Given the description of an element on the screen output the (x, y) to click on. 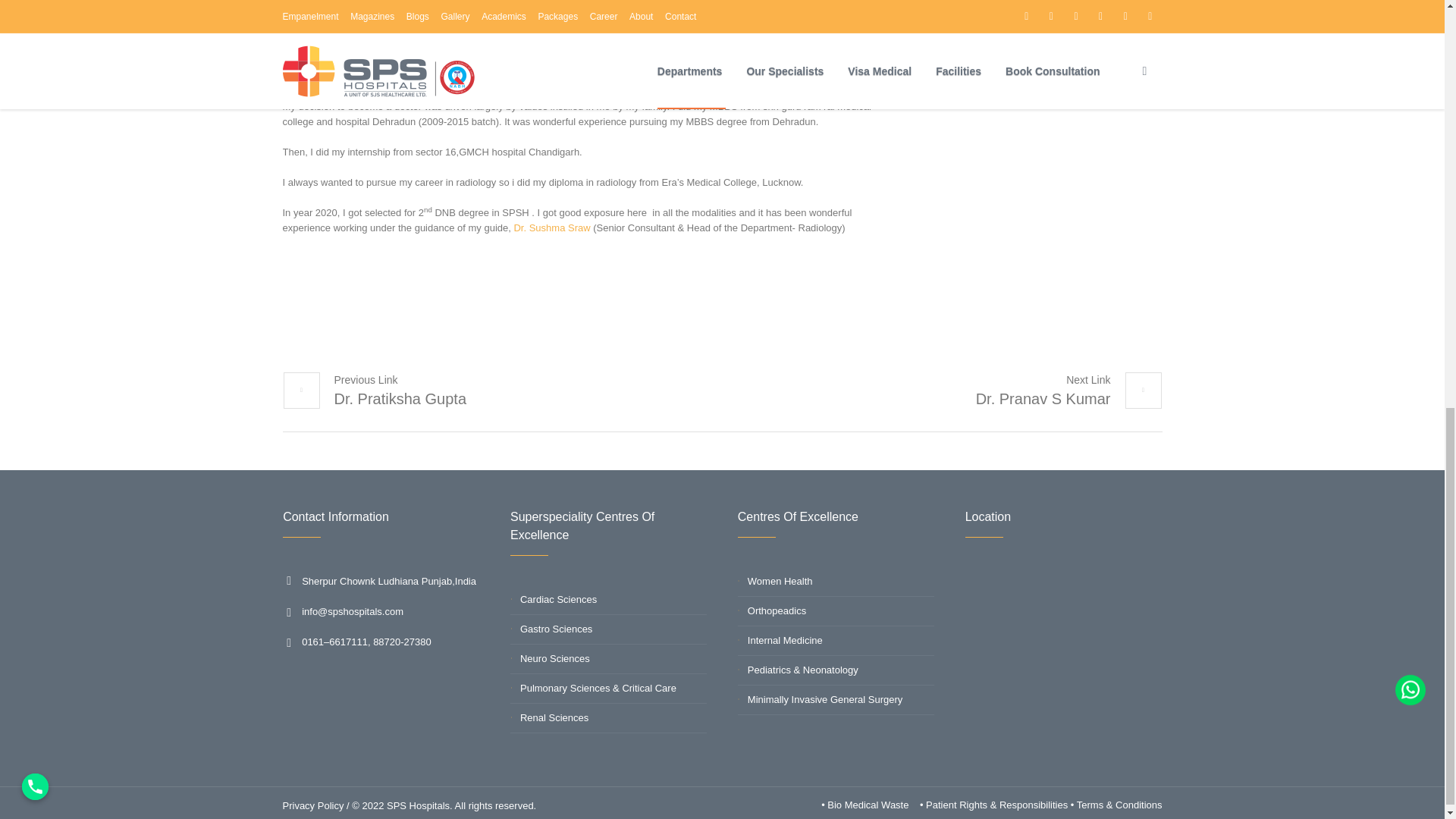
Dr. Sushma Sraw (551, 227)
Dr. Pratiksha Gupta (373, 390)
Cardiac Sciences (557, 599)
Neuro Sciences (554, 658)
Dr. Pranav S Kumar (1068, 390)
Gastro Sciences (555, 628)
